Given the description of an element on the screen output the (x, y) to click on. 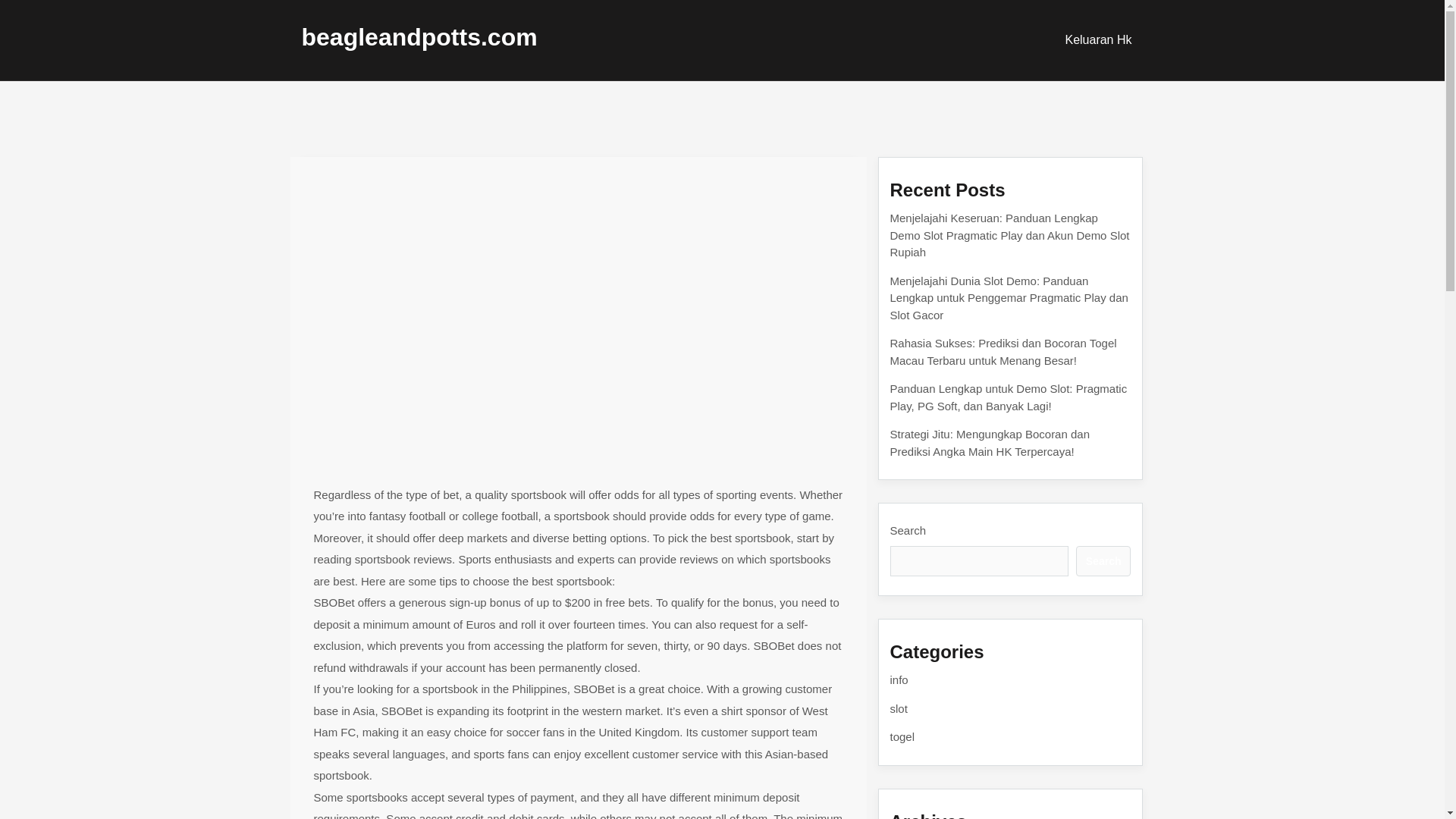
togel (902, 736)
Keluaran Hk (1097, 40)
Keluaran Hk (1097, 40)
info (898, 679)
Search (1103, 561)
info (328, 218)
slot (898, 707)
How to Choose the Best Sportsbook (471, 181)
beagleandpotts.com (419, 36)
